Given the description of an element on the screen output the (x, y) to click on. 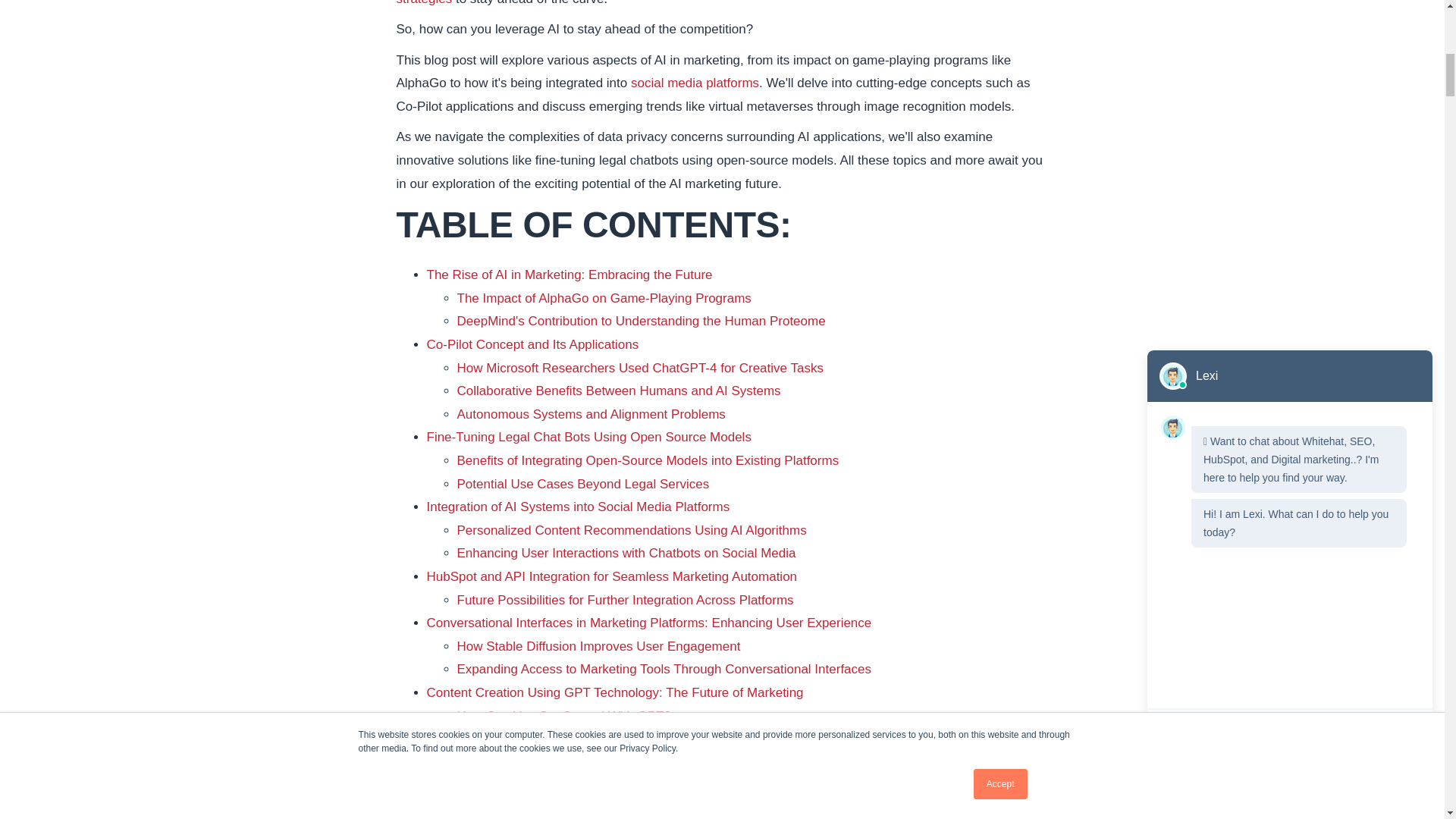
The Rise of AI in Marketing: Embracing the Future (568, 274)
Co-Pilot Concept and Its Applications (532, 344)
How Microsoft Researchers Used ChatGPT-4 for Creative Tasks (639, 368)
Fine-Tuning Legal Chat Bots Using Open Source Models (588, 436)
social media platforms (694, 83)
Collaborative Benefits Between Humans and AI Systems (618, 391)
Autonomous Systems and Alignment Problems (591, 414)
The Impact of AlphaGo on Game-Playing Programs (604, 298)
DeepMind's Contribution to Understanding the Human Proteome (641, 320)
